Given the description of an element on the screen output the (x, y) to click on. 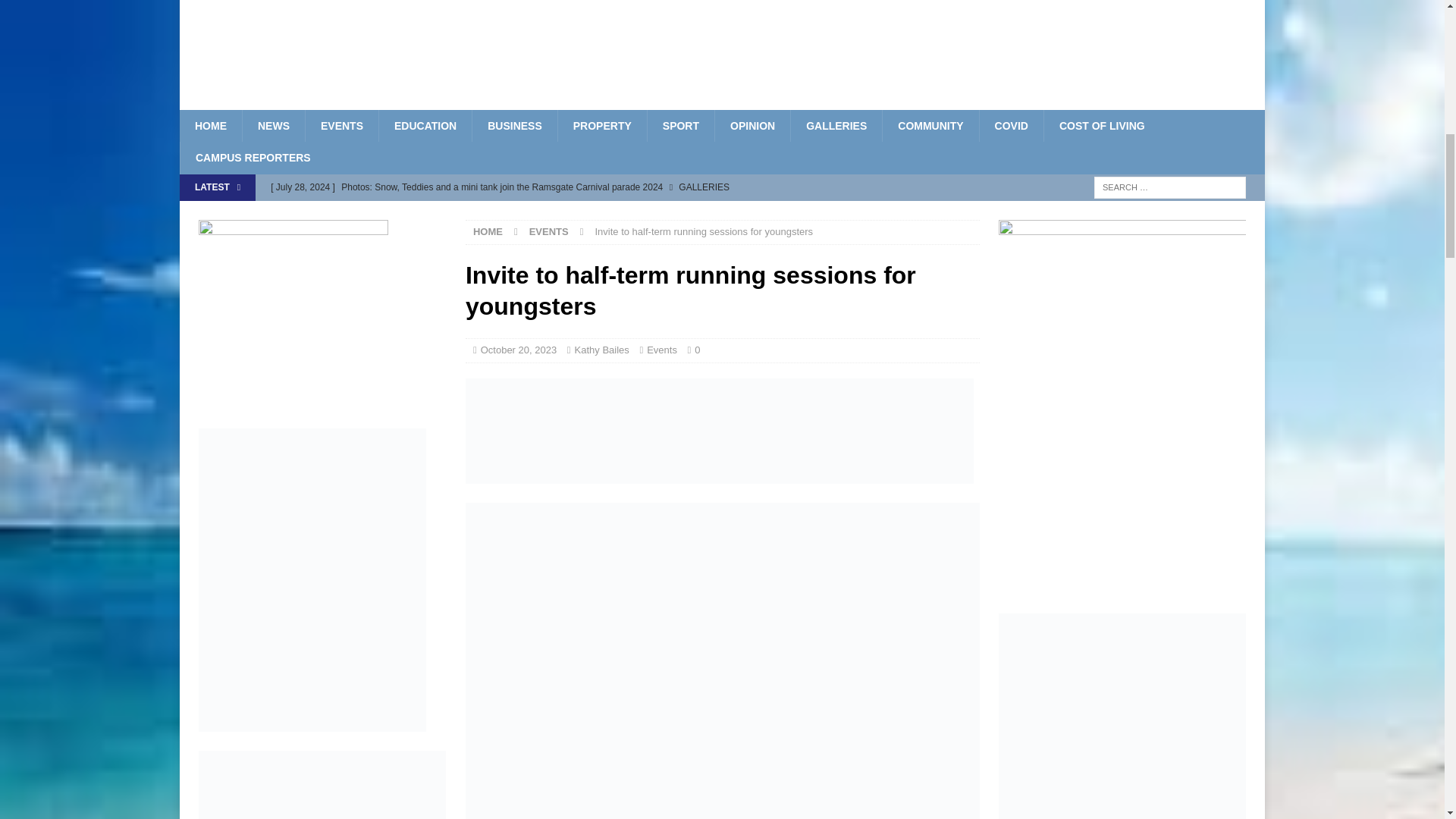
Margate RNLI called to swimmer in difficulty at Main Sands (574, 212)
